Given the description of an element on the screen output the (x, y) to click on. 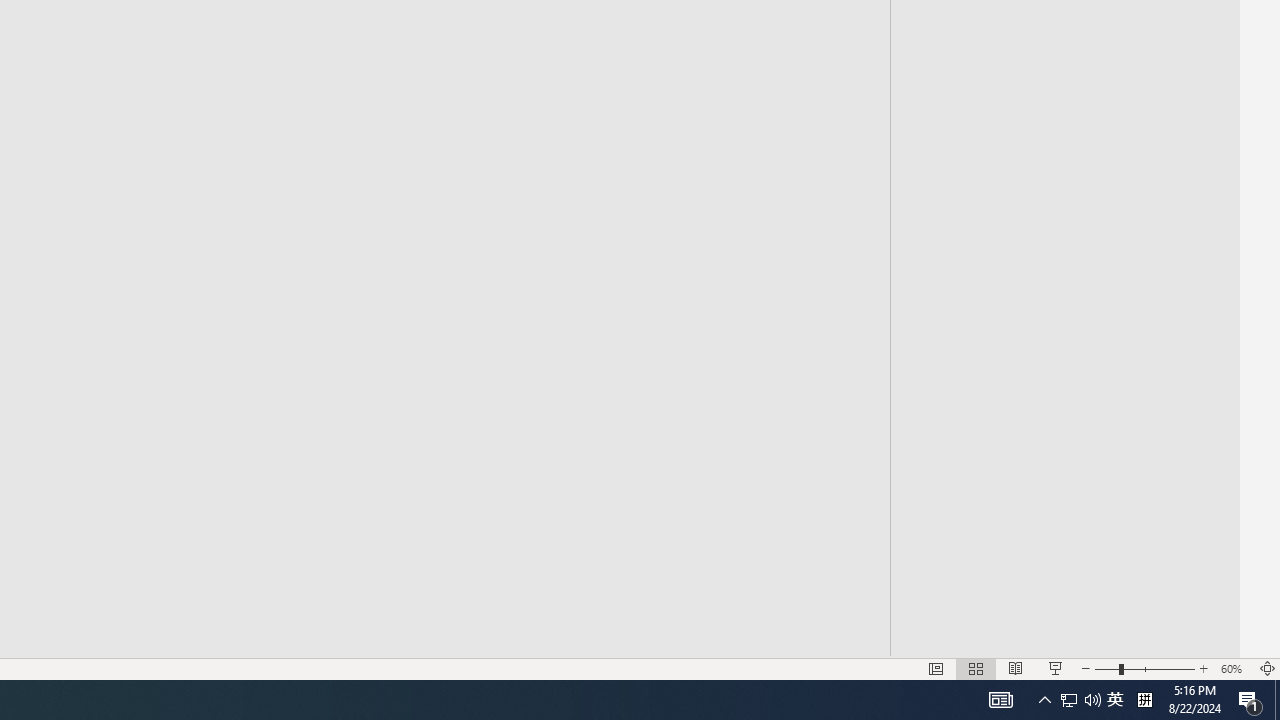
Zoom 60% (1234, 668)
